Given the description of an element on the screen output the (x, y) to click on. 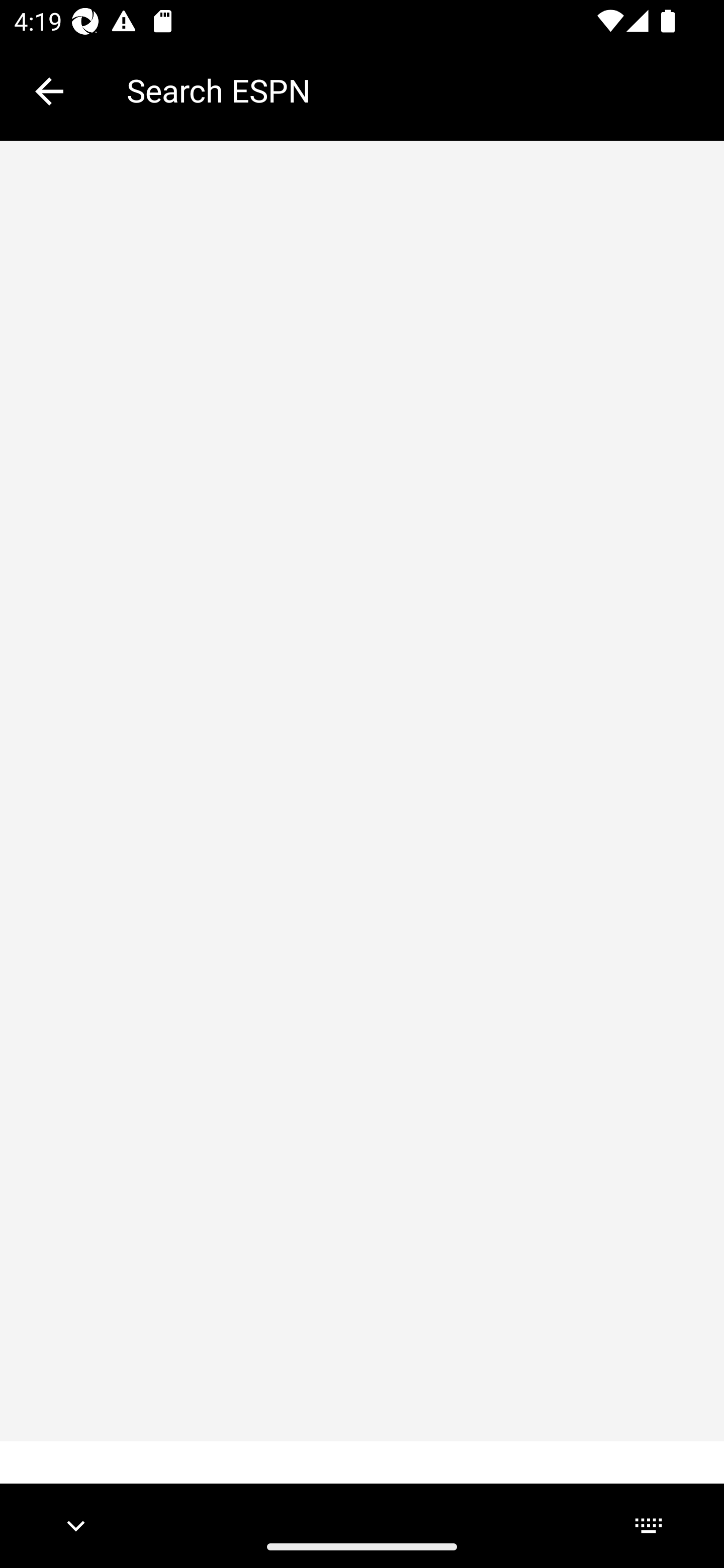
Collapse (49, 91)
Search ESPN (411, 90)
